Given the description of an element on the screen output the (x, y) to click on. 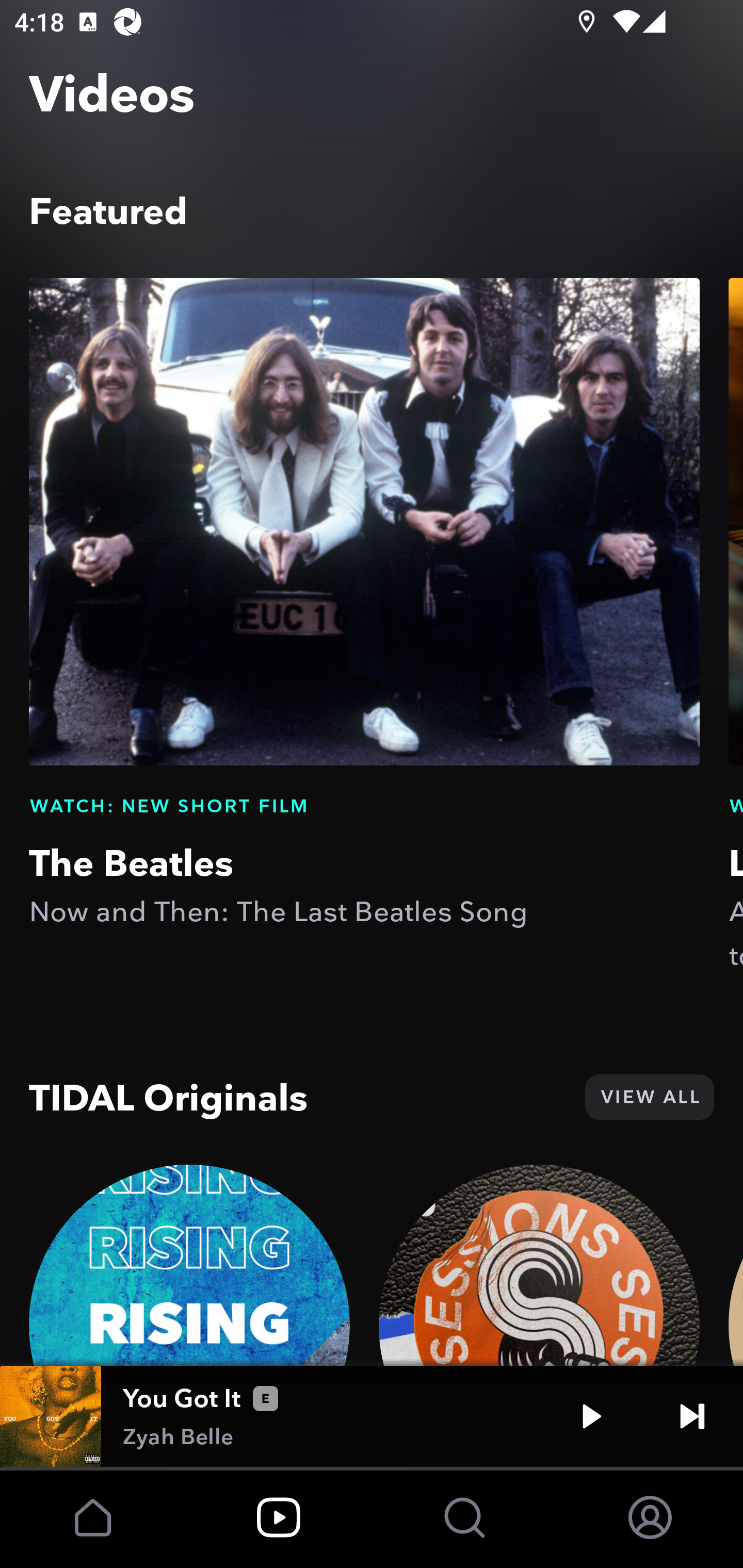
VIEW ALL (649, 1096)
You Got It    Zyah Belle Play (371, 1416)
Play (590, 1416)
